Given the description of an element on the screen output the (x, y) to click on. 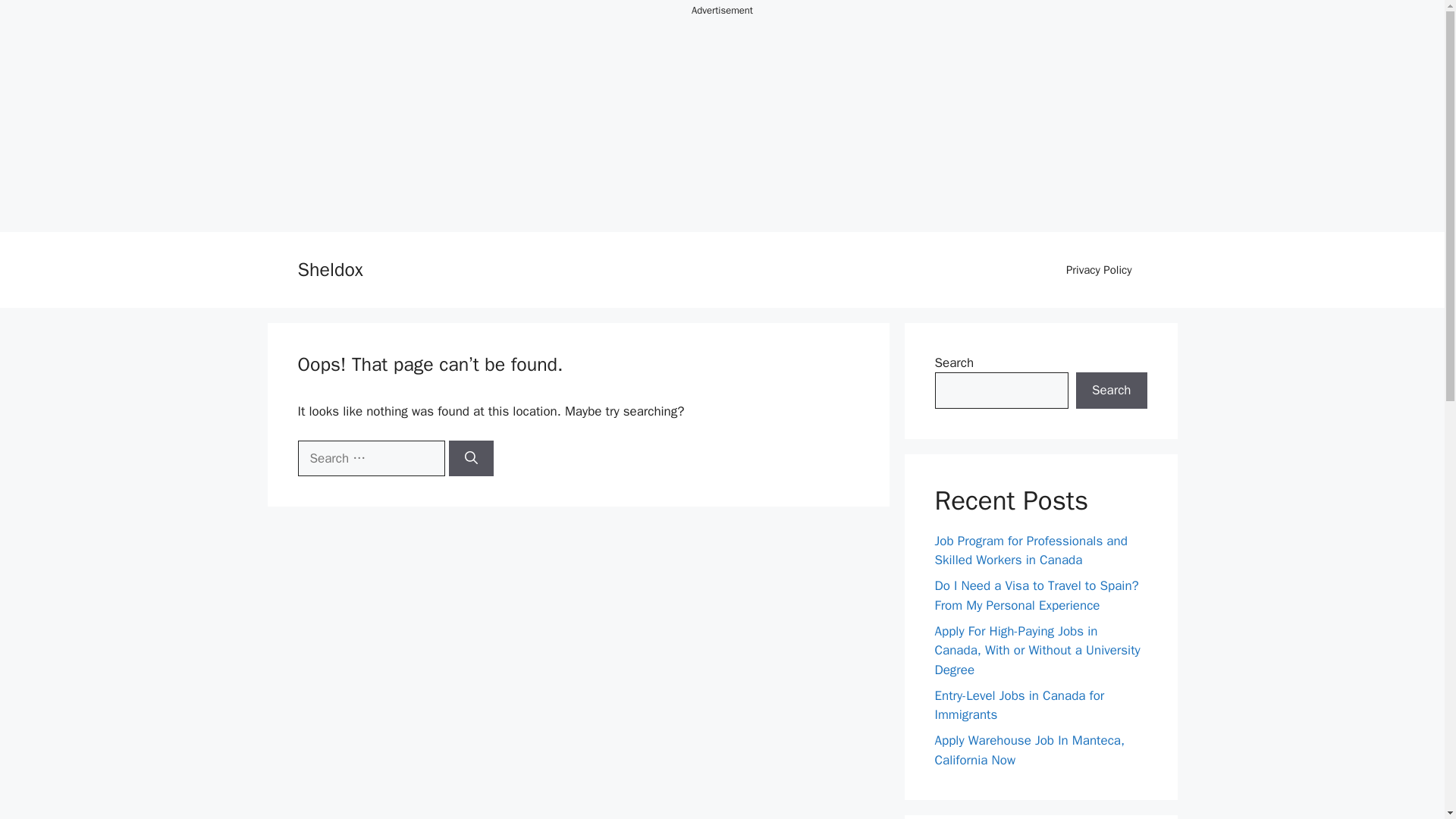
Search (1111, 390)
Apply Warehouse Job In Manteca, California Now (1029, 750)
Sheldox (329, 269)
Privacy Policy (1099, 269)
Entry-Level Jobs in Canada for Immigrants (1018, 704)
Job Program for Professionals and Skilled Workers in Canada (1030, 550)
Search for: (370, 457)
